Given the description of an element on the screen output the (x, y) to click on. 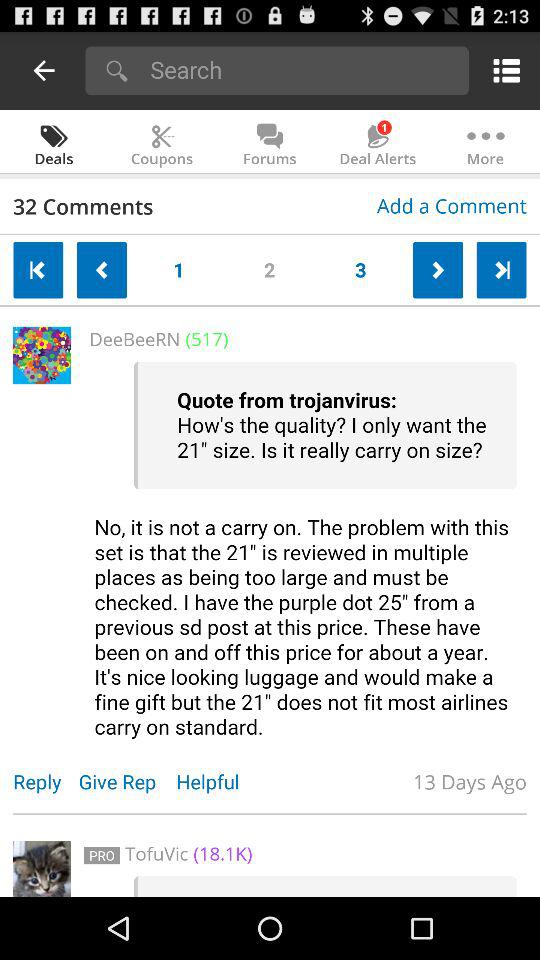
go to previous page (44, 70)
